Given the description of an element on the screen output the (x, y) to click on. 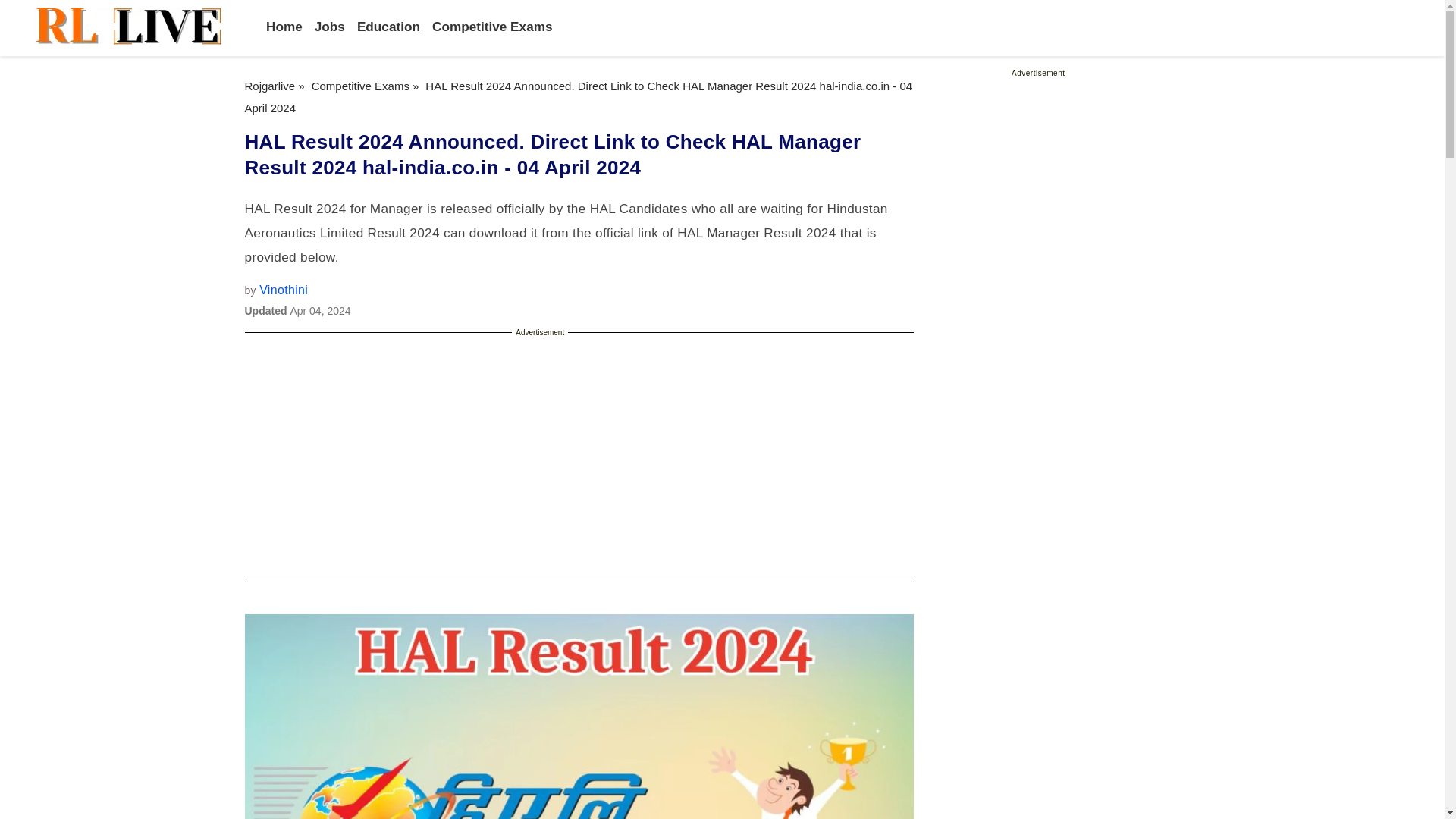
Competitive Exams (492, 26)
Vinothini (283, 289)
Rojgarlive (269, 85)
Jobs (329, 26)
Home (284, 26)
Competitive Exams (360, 85)
Education (388, 26)
